Given the description of an element on the screen output the (x, y) to click on. 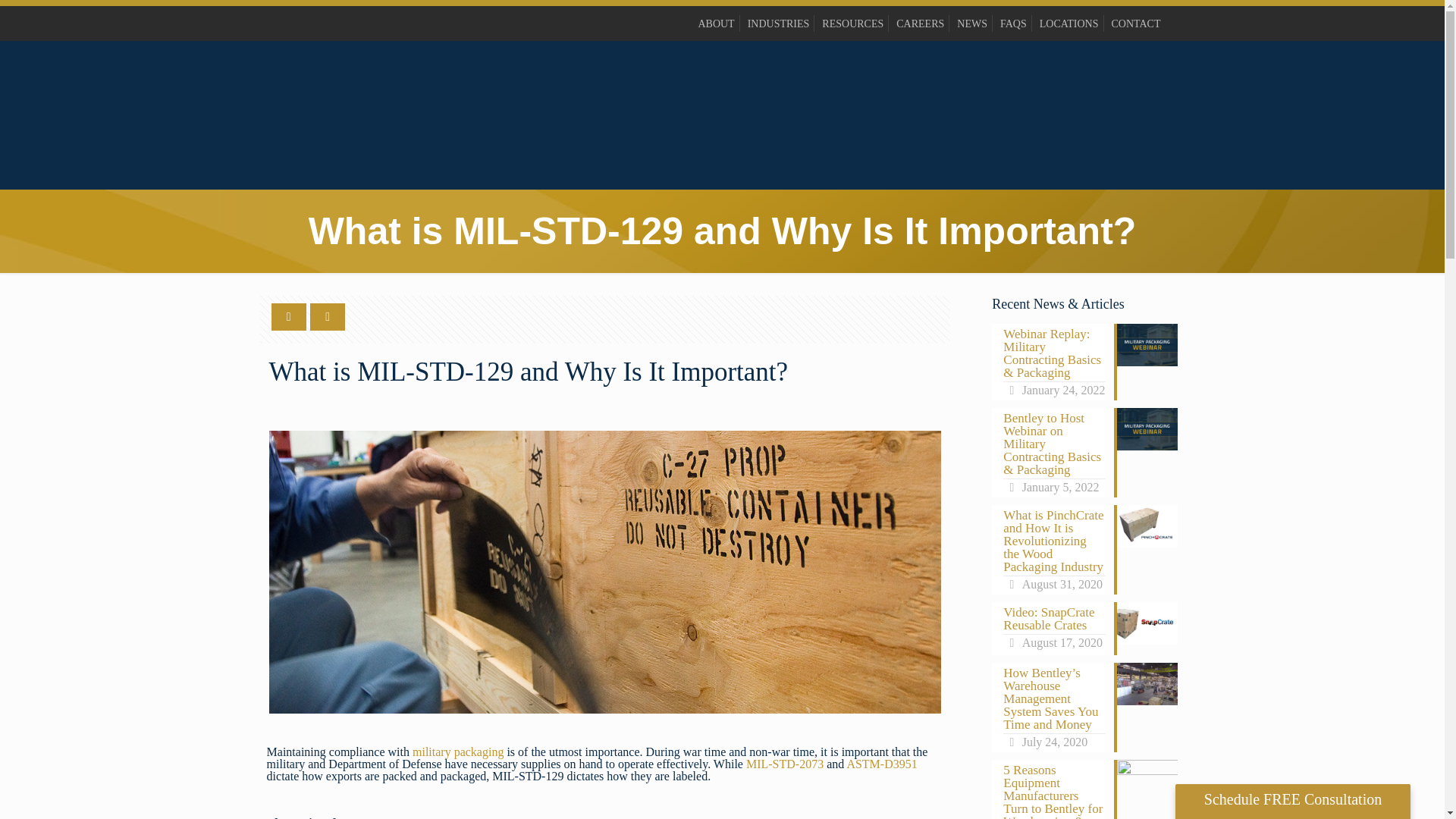
LOCATIONS (1069, 23)
ABOUT (715, 23)
NEWS (971, 23)
FAQS (1013, 23)
CONTACT (1136, 23)
CAREERS (919, 23)
INDUSTRIES (778, 23)
RESOURCES (852, 23)
